Given the description of an element on the screen output the (x, y) to click on. 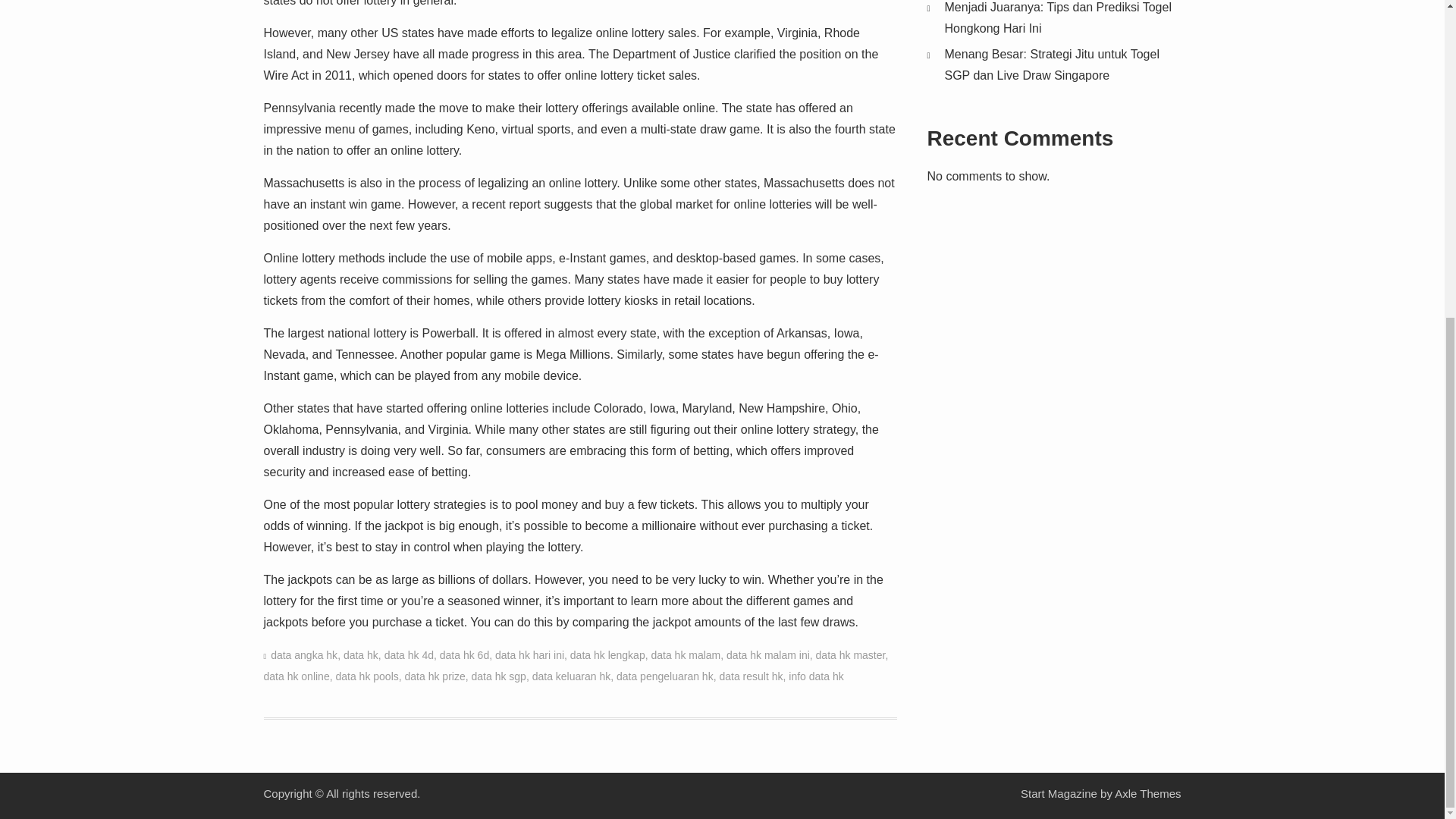
data hk malam (685, 654)
data hk (360, 654)
data hk prize (434, 676)
data keluaran hk (571, 676)
data pengeluaran hk (664, 676)
data hk pools (365, 676)
data hk hari ini (529, 654)
data result hk (751, 676)
data hk 4d (408, 654)
data hk lengkap (607, 654)
info data hk (816, 676)
data hk sgp (498, 676)
Menjadi Juaranya: Tips dan Prediksi Togel Hongkong Hari Ini (1058, 17)
data hk malam ini (767, 654)
data angka hk (303, 654)
